Given the description of an element on the screen output the (x, y) to click on. 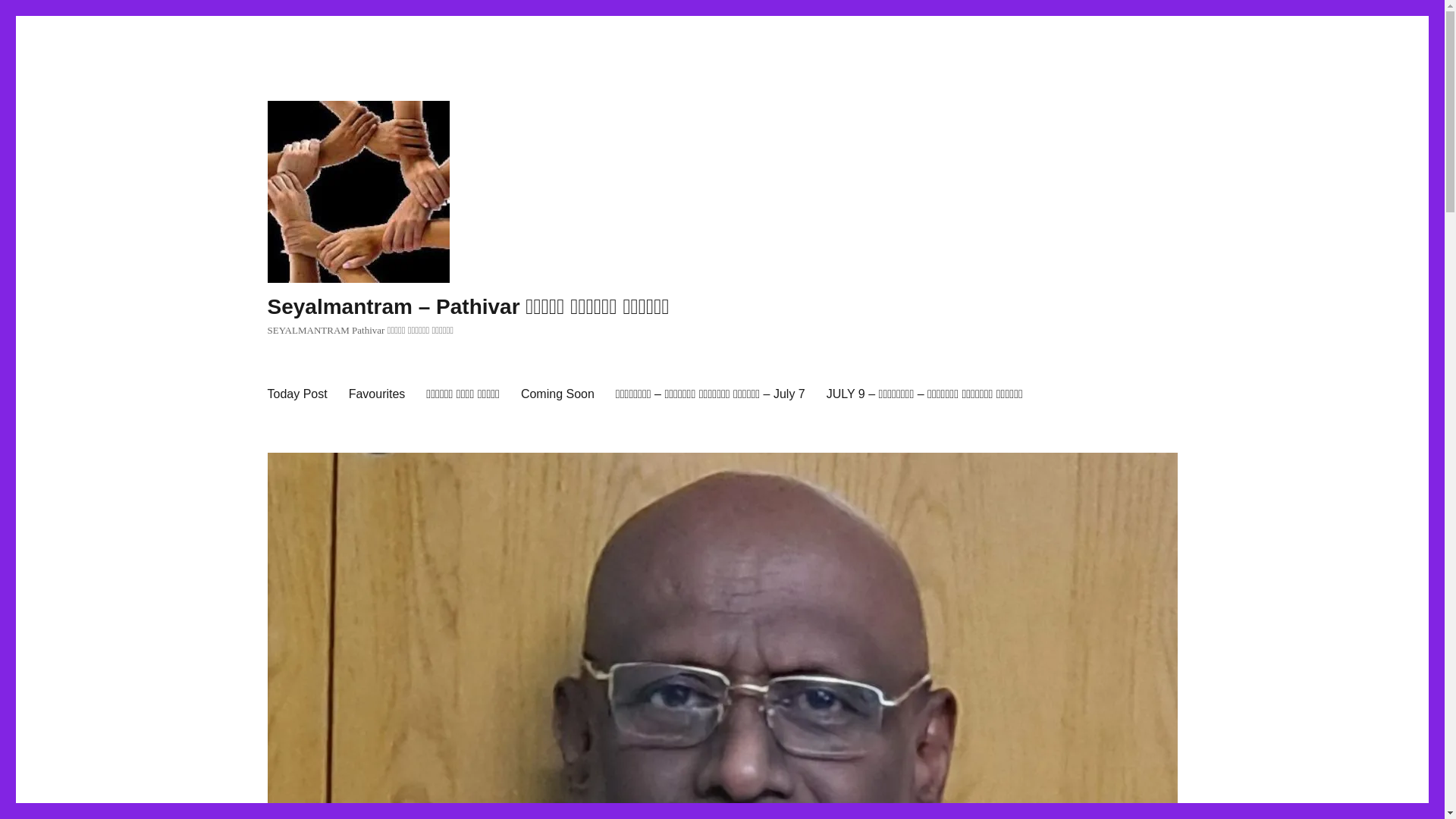
Coming Soon (558, 394)
Today Post (296, 394)
Favourites (376, 394)
